Given the description of an element on the screen output the (x, y) to click on. 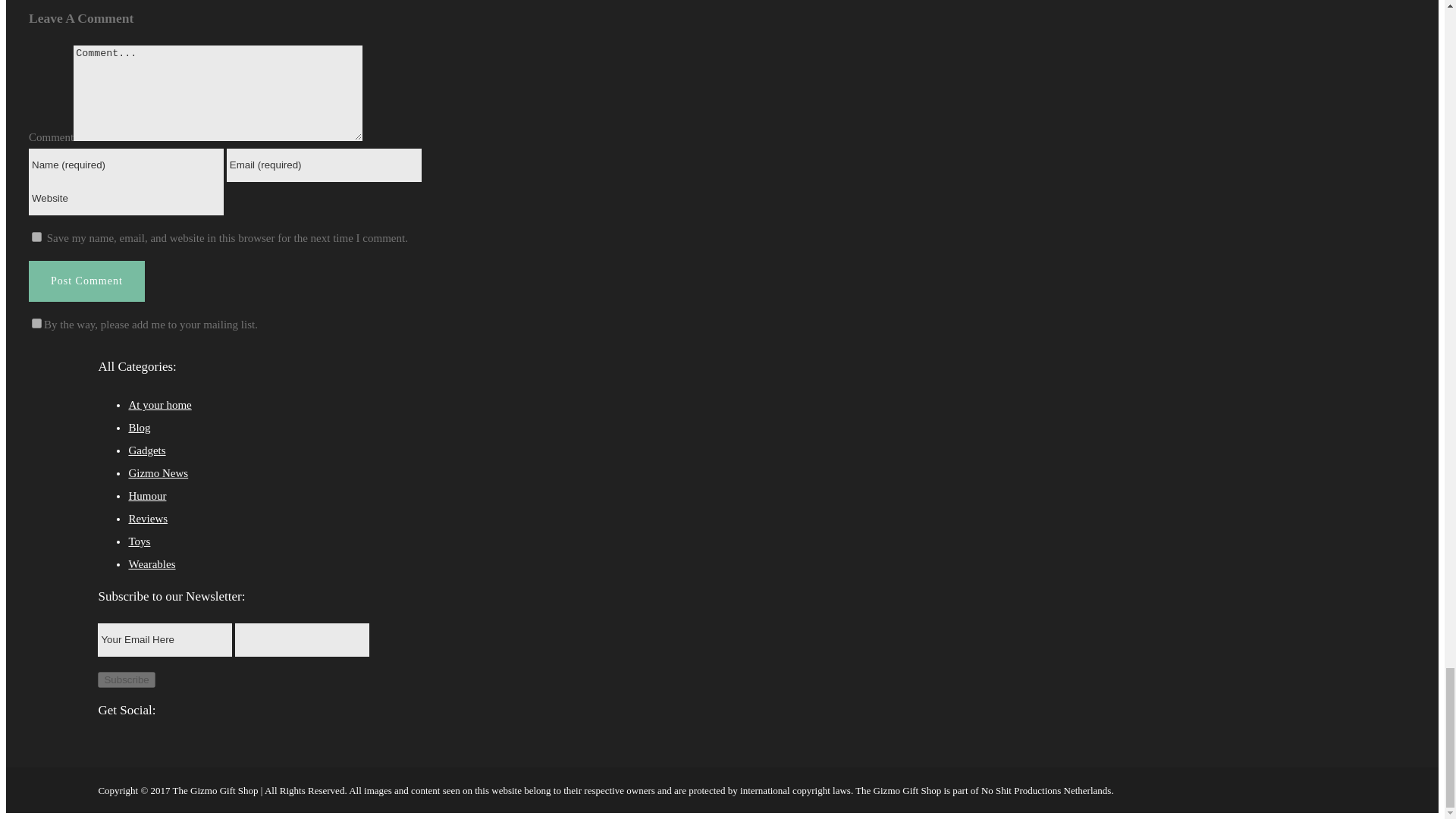
Your Email Here (164, 639)
Subscribe (125, 679)
1 (37, 323)
Post Comment (86, 281)
yes (37, 236)
